Given the description of an element on the screen output the (x, y) to click on. 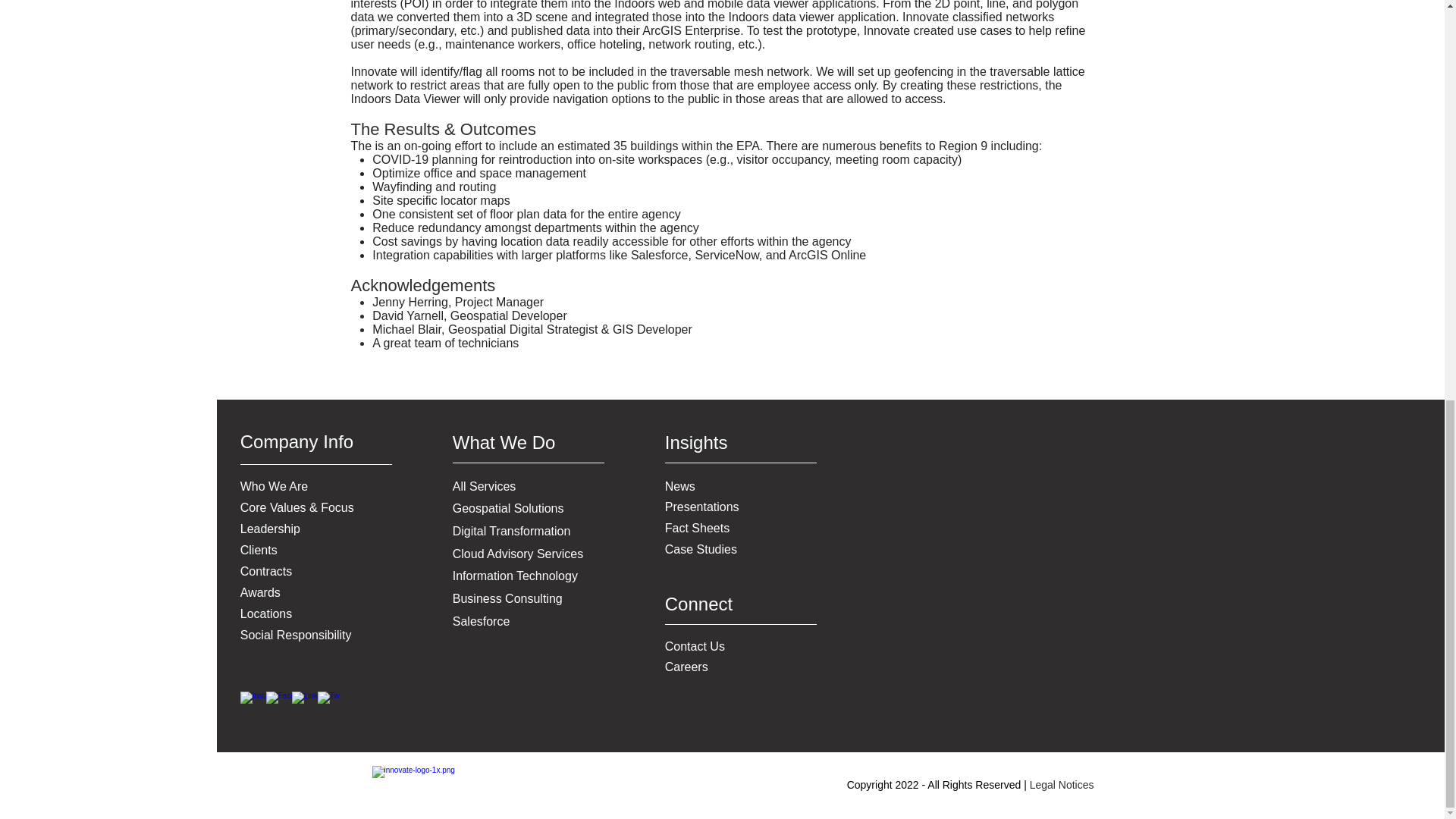
Salesforce (481, 621)
Clients (259, 549)
Business Consulting (507, 598)
Who We Are (274, 486)
All Services (484, 486)
Legal Notices (1061, 784)
Awards (260, 592)
Careers (686, 666)
Cloud Advisory Services (517, 553)
Fact Sheets (697, 527)
